Given the description of an element on the screen output the (x, y) to click on. 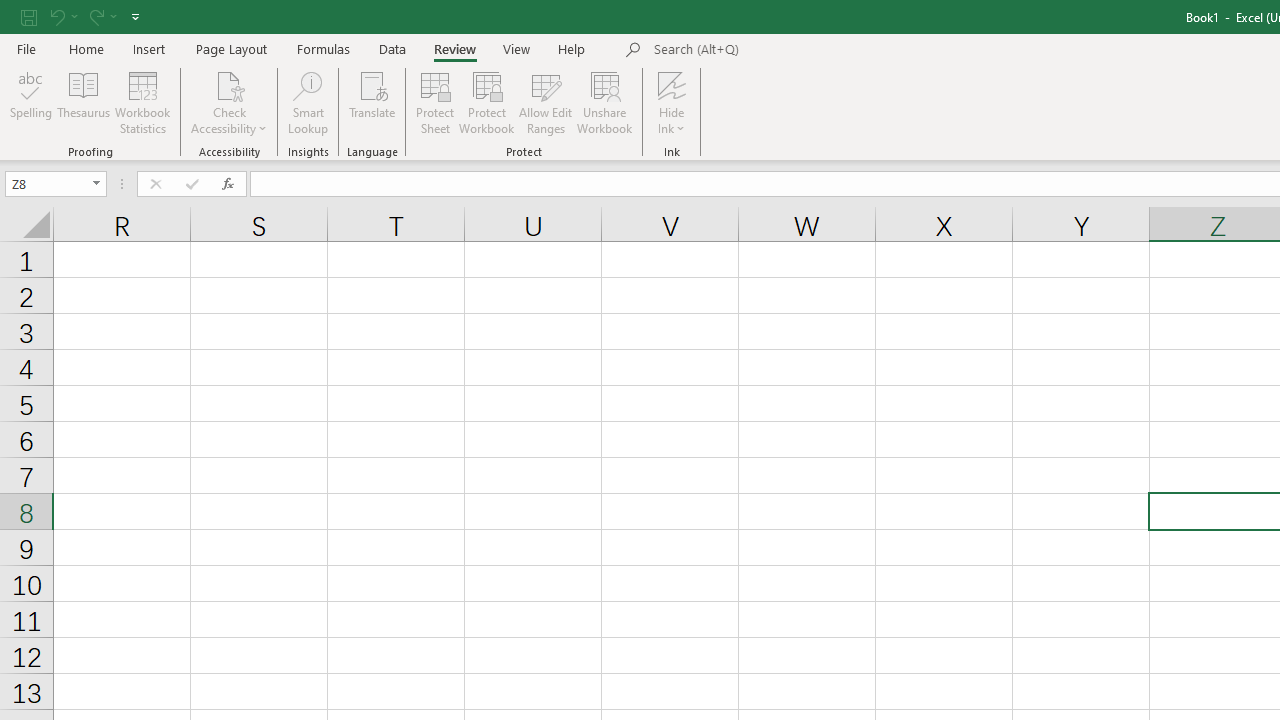
Translate (372, 102)
Spelling... (31, 102)
